Given the description of an element on the screen output the (x, y) to click on. 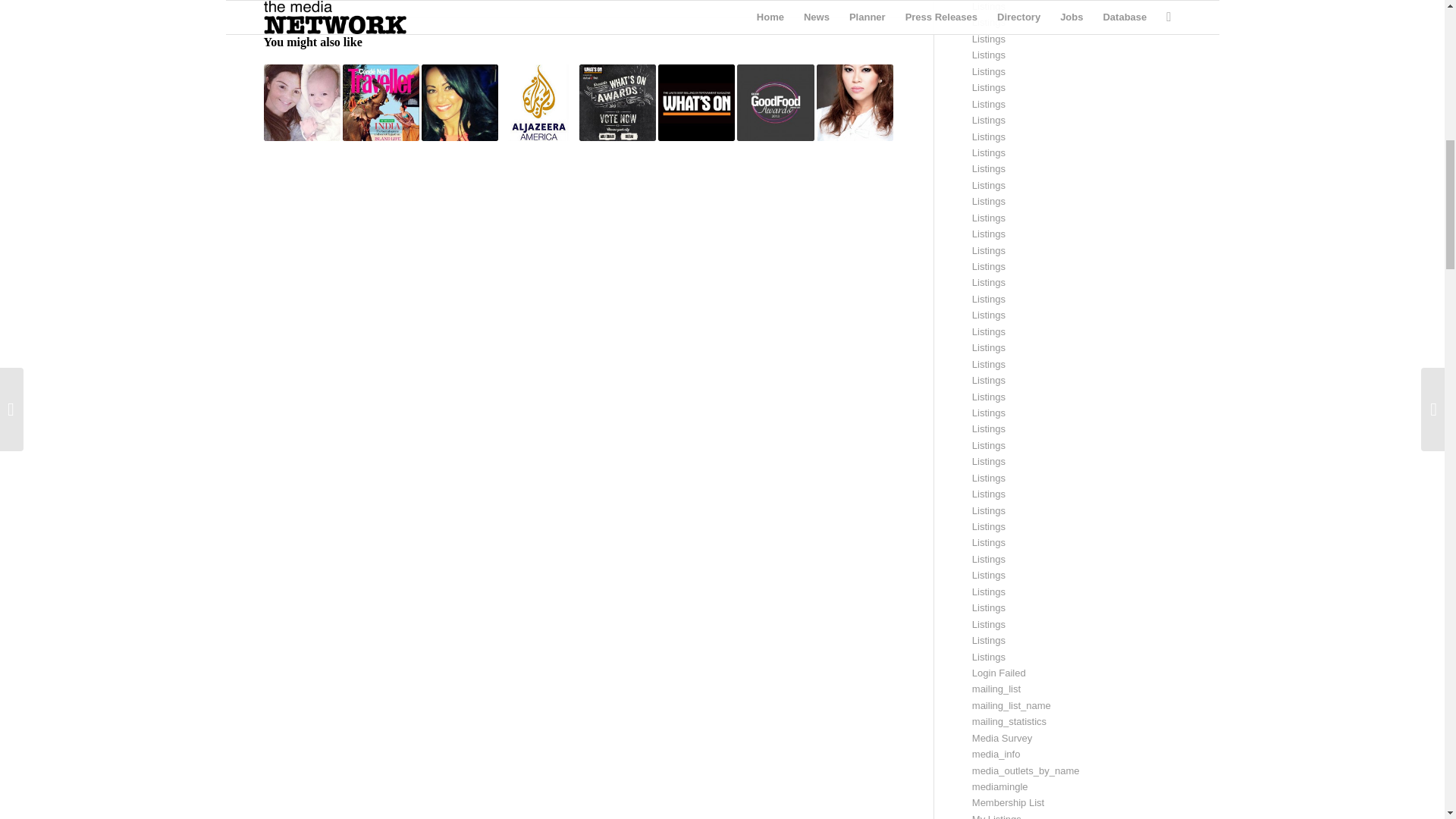
Elle Timms says goodbye to Hello! (301, 102)
